Given the description of an element on the screen output the (x, y) to click on. 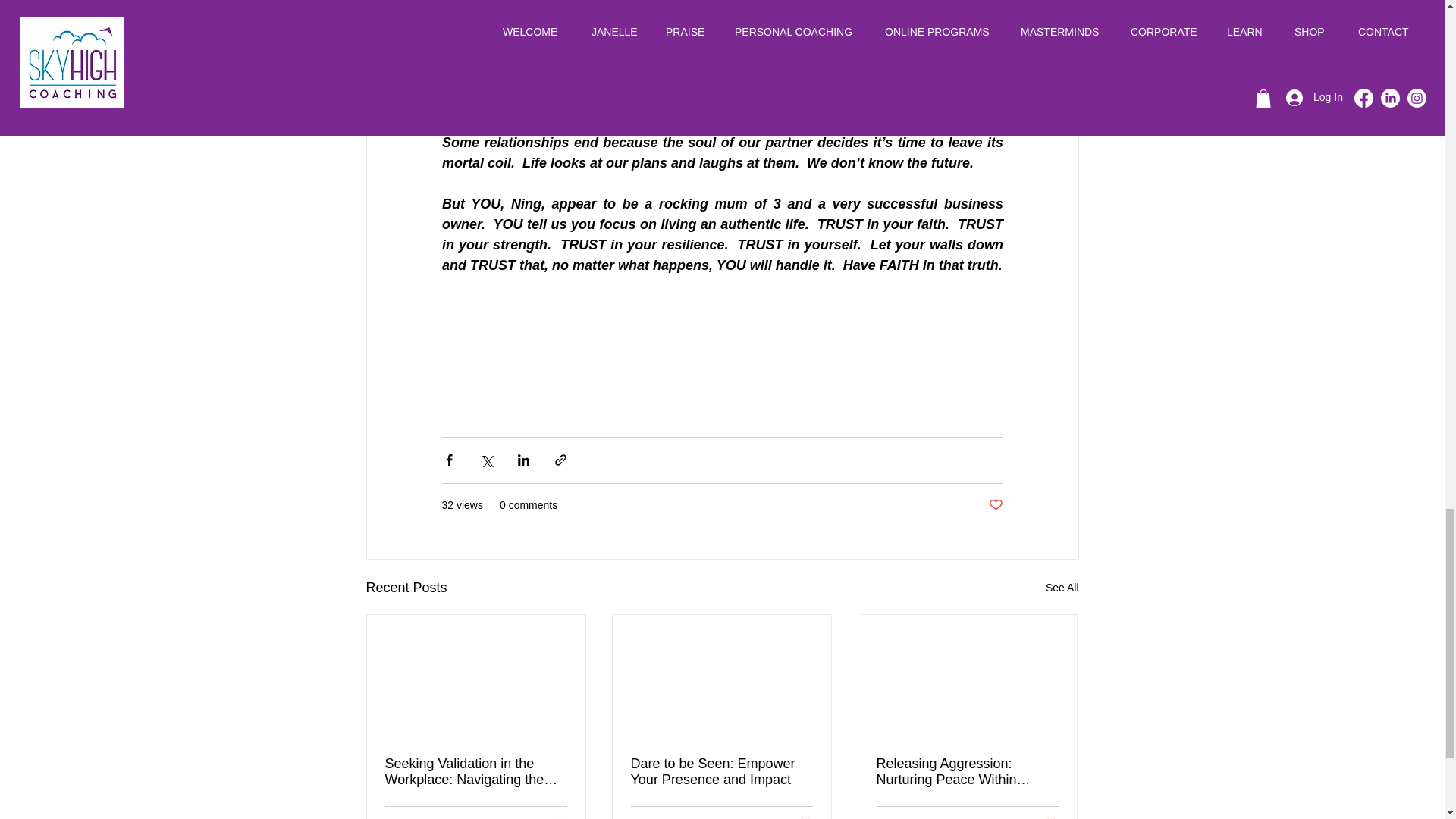
Post not marked as liked (1050, 817)
0 (926, 818)
Dare to be Seen: Empower Your Presence and Impact (721, 771)
Post not marked as liked (804, 817)
Post not marked as liked (558, 817)
Post not marked as liked (995, 505)
See All (1061, 587)
